Given the description of an element on the screen output the (x, y) to click on. 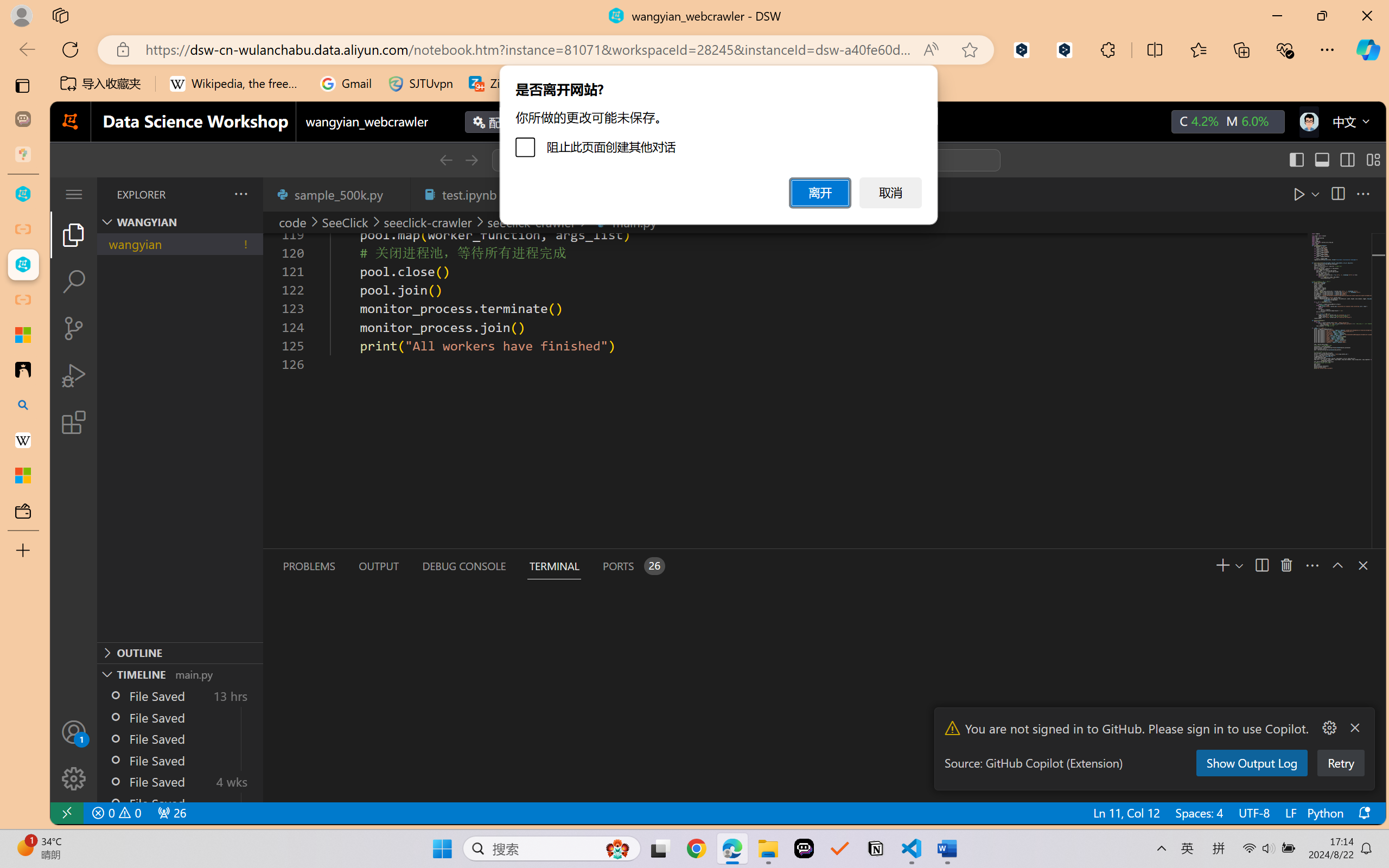
Terminal actions (1002, 565)
Manage (73, 778)
Ln 11, Col 12 (1125, 812)
Notifications (1363, 812)
Toggle Secondary Side Bar (Ctrl+Alt+B) (1347, 159)
Notification Actions (1341, 727)
Search (Ctrl+Shift+F) (73, 281)
Accounts - Sign in requested (73, 732)
Class: actions-container (1351, 565)
Explorer Section: wangyian (179, 221)
Launch Profile... (1288, 565)
